Given the description of an element on the screen output the (x, y) to click on. 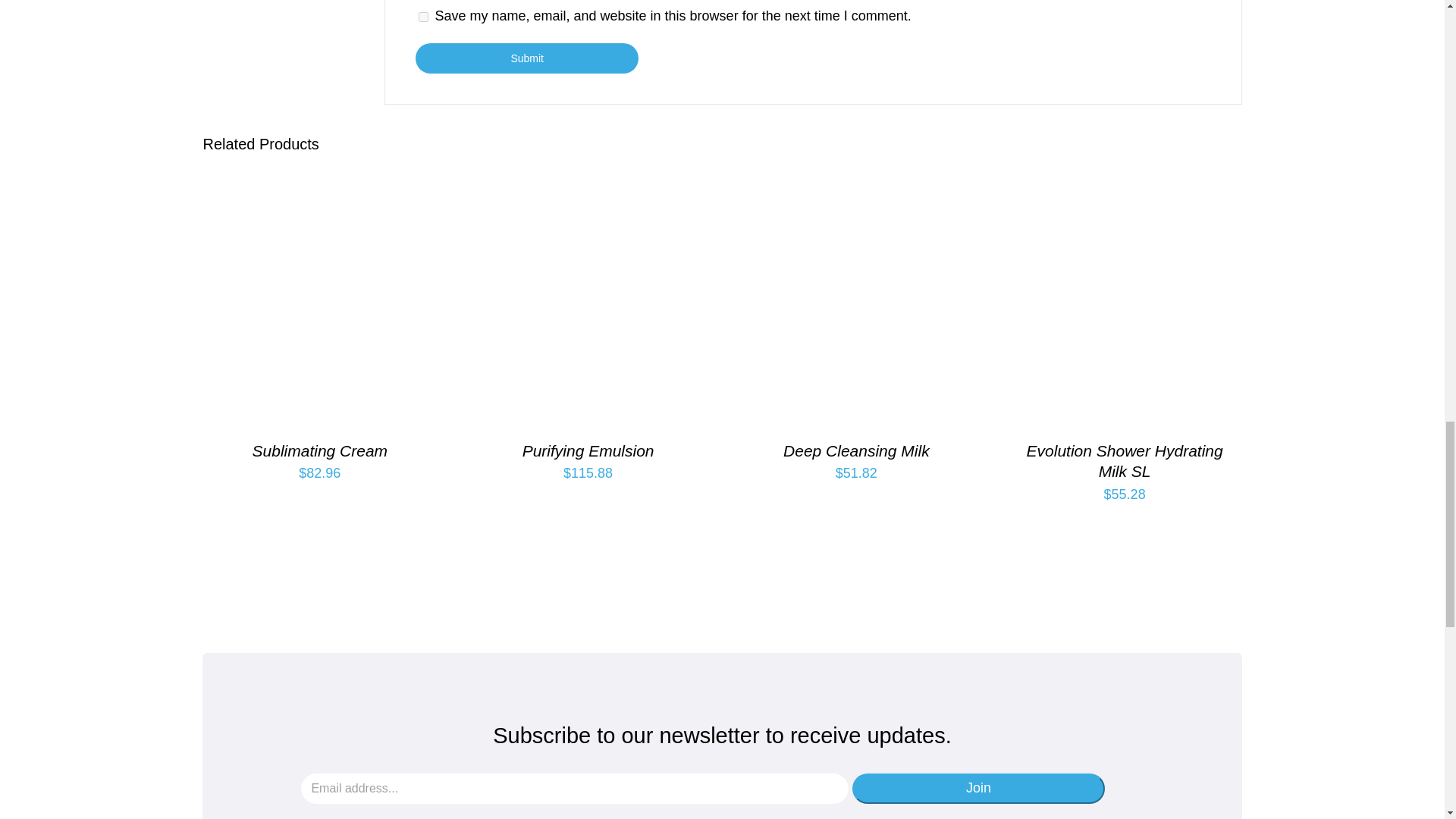
yes (423, 17)
Submit (525, 58)
Join (978, 788)
